Given the description of an element on the screen output the (x, y) to click on. 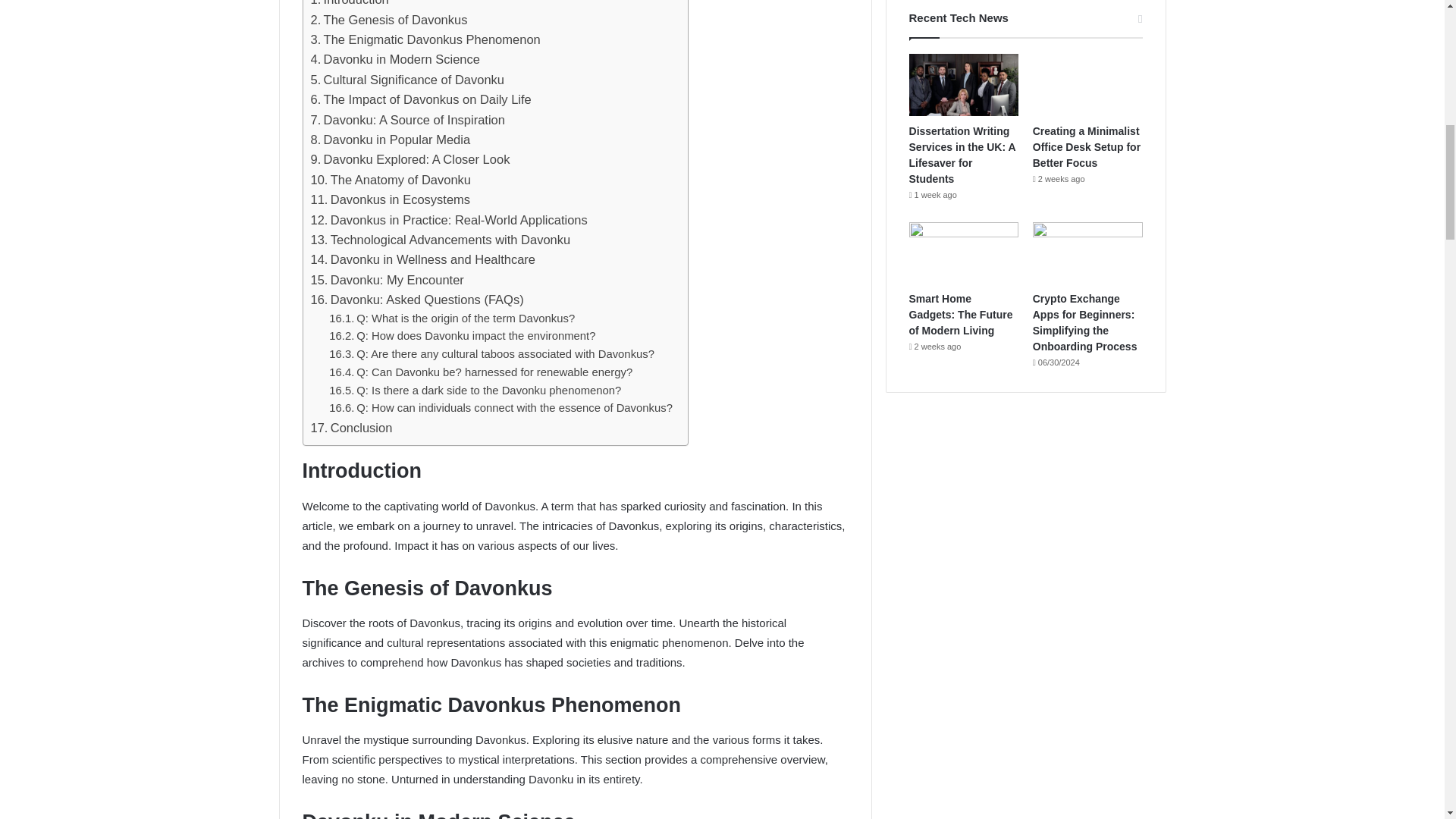
The Genesis of Davonkus (389, 19)
Davonku in Modern Science (395, 58)
The Enigmatic Davonkus Phenomenon (425, 39)
Introduction (349, 4)
Introduction (349, 4)
Cultural Significance of Davonku (408, 79)
